Given the description of an element on the screen output the (x, y) to click on. 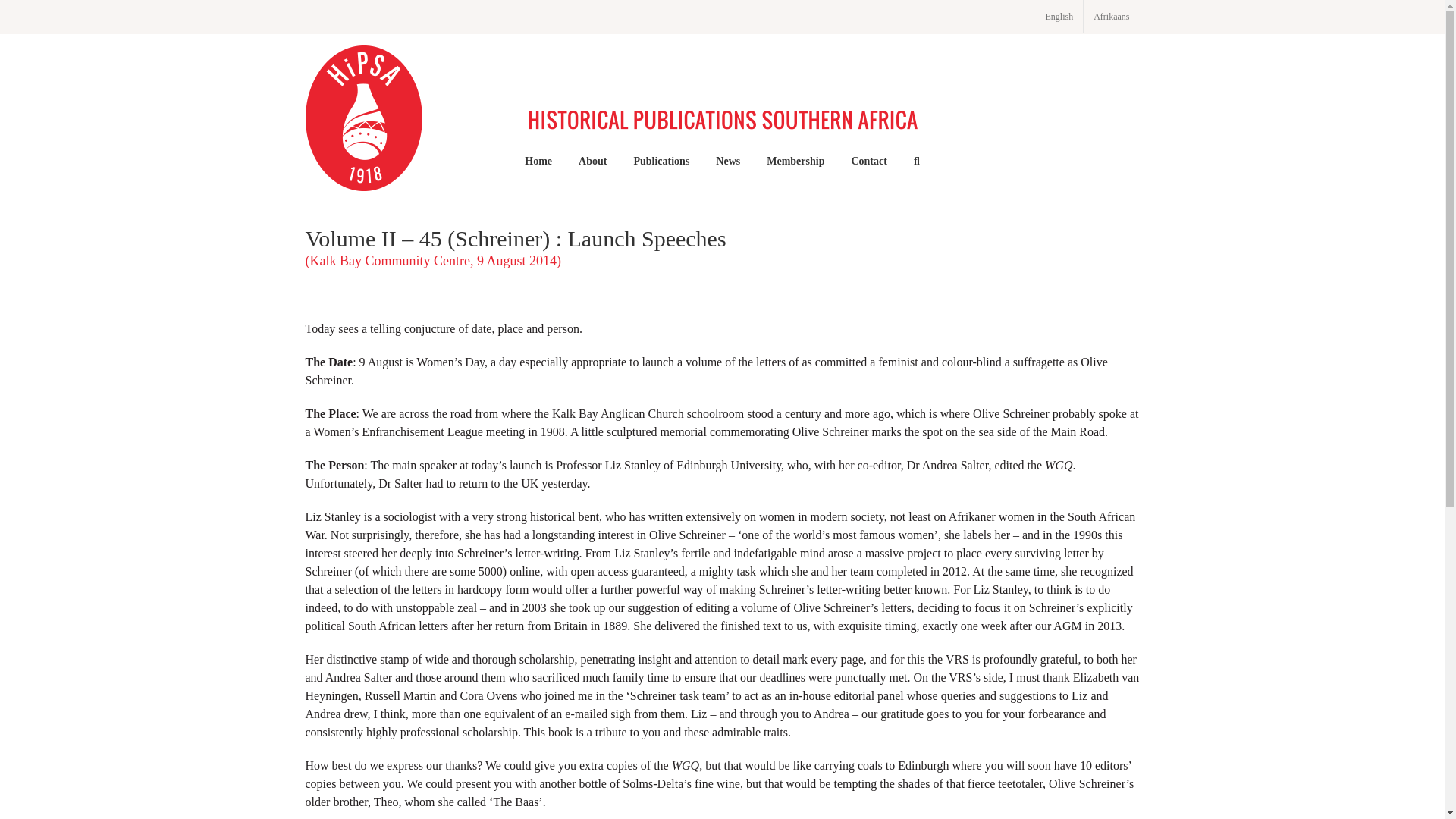
English (1059, 16)
Publications (660, 161)
About (592, 161)
Afrikaans (1110, 16)
Membership (795, 161)
English (1059, 16)
Home (537, 161)
Afrikaans (1110, 16)
Contact (868, 161)
